Given the description of an element on the screen output the (x, y) to click on. 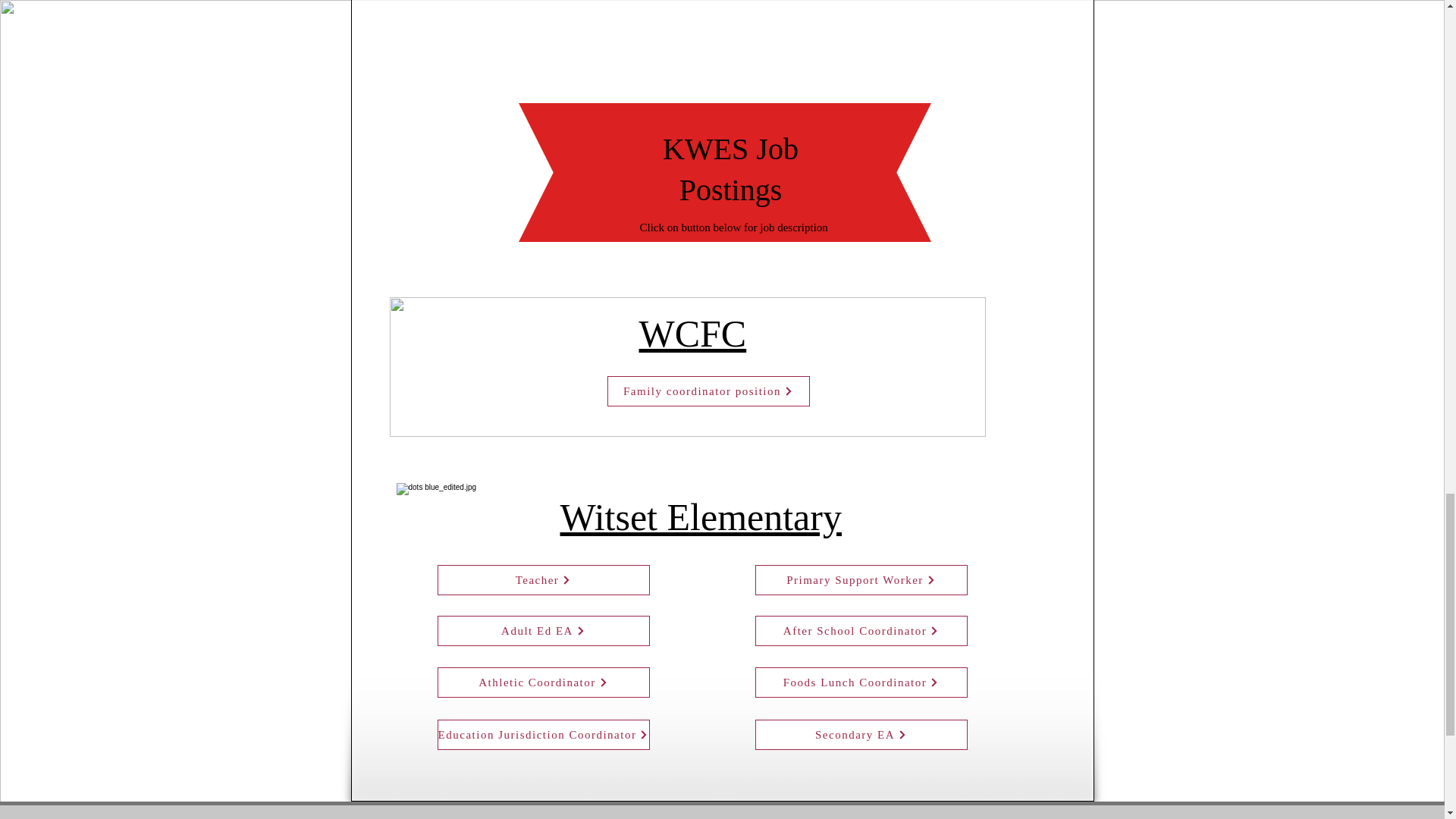
Adult Ed EA (542, 630)
Teacher (542, 580)
Family coordinator position (708, 390)
Primary Support Worker (861, 580)
